Given the description of an element on the screen output the (x, y) to click on. 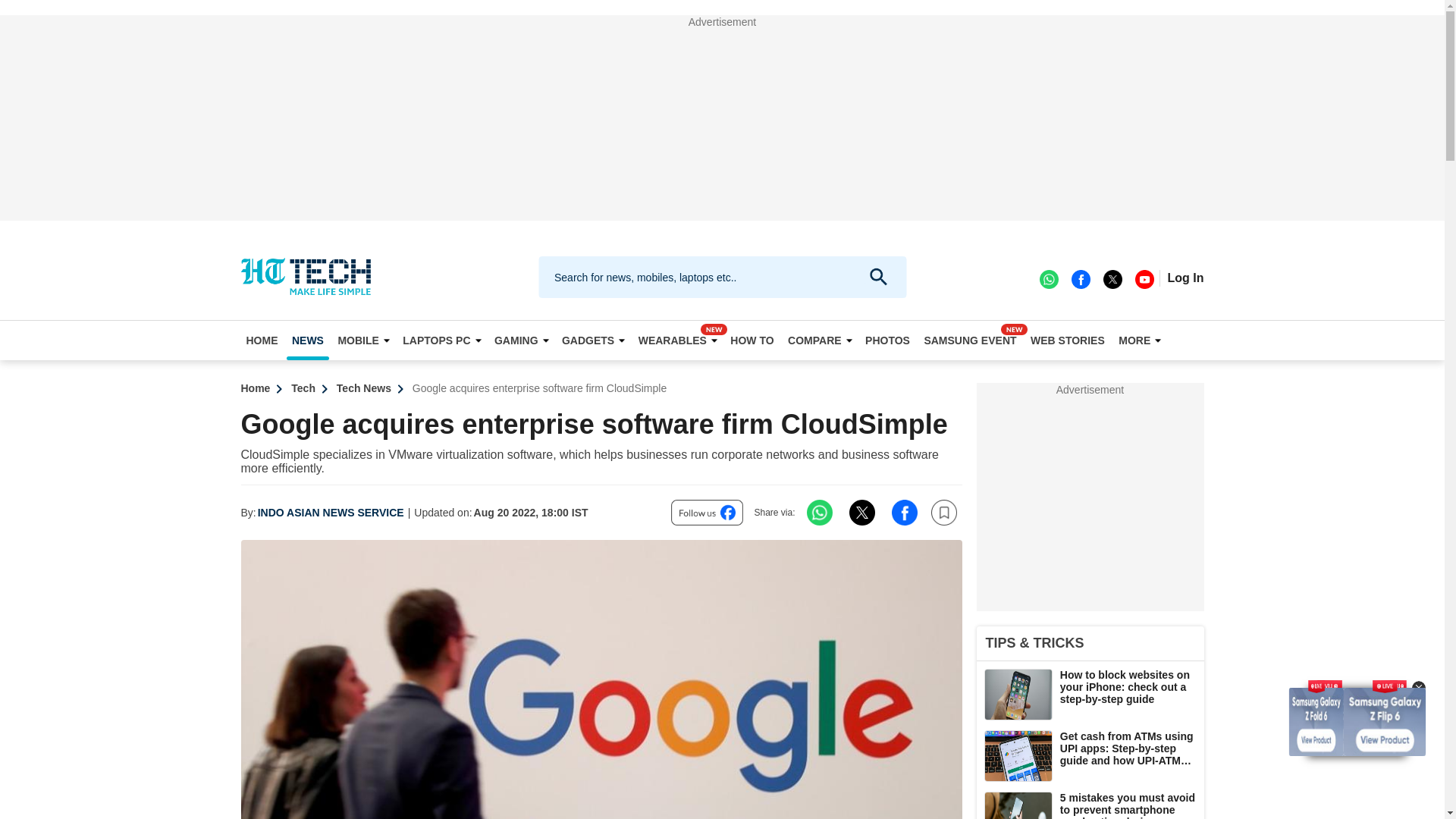
NEWS (307, 340)
facebook (1079, 278)
MOBILE (362, 340)
GADGETS (592, 340)
HOW TO (751, 340)
COMPARE (820, 340)
Login (1185, 277)
twitter (1111, 278)
WEARABLES (677, 340)
youtube (1143, 278)
GAMING (521, 340)
LAPTOPS PC (440, 340)
HOME (262, 340)
